Given the description of an element on the screen output the (x, y) to click on. 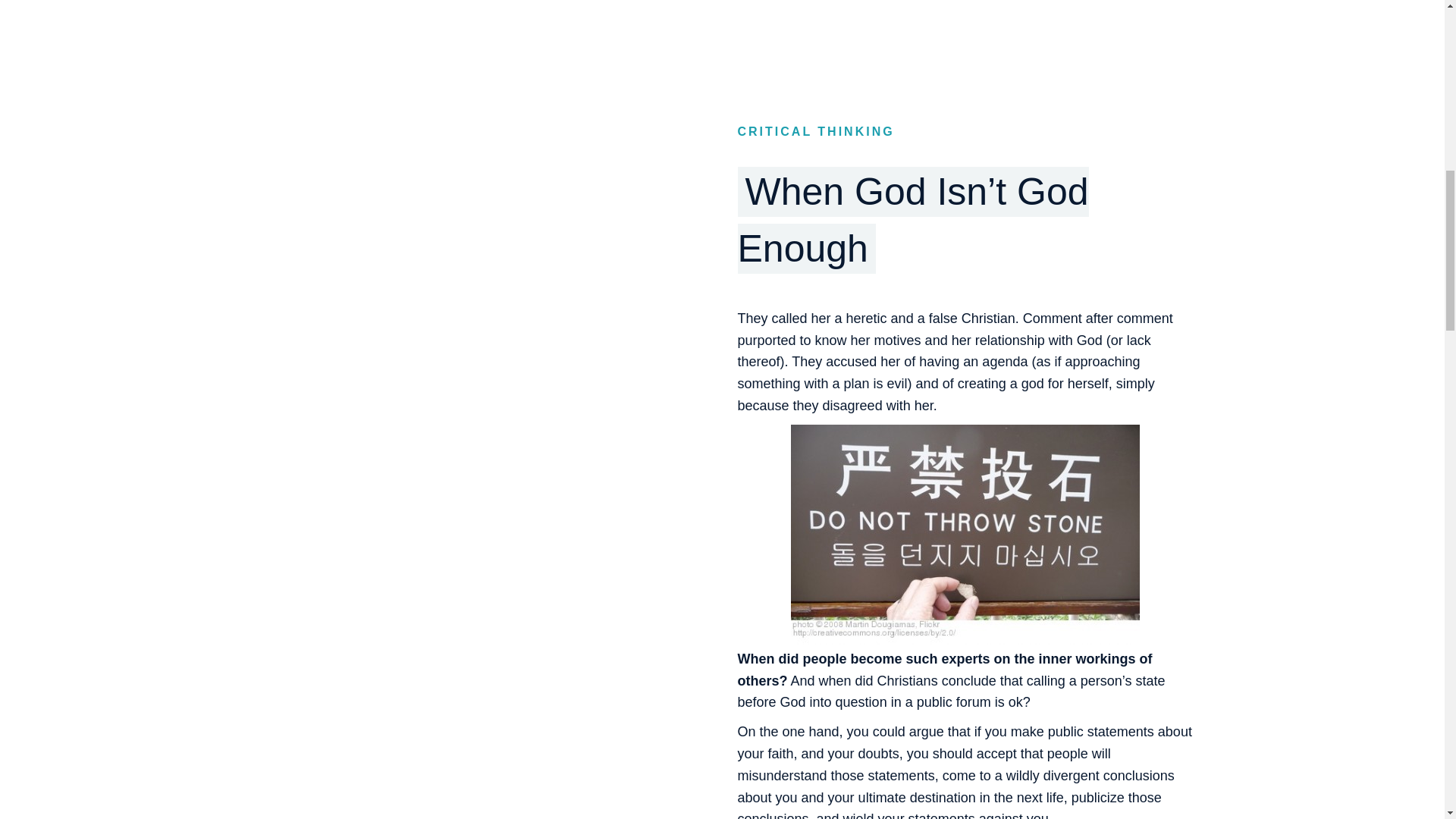
donotthrowstone (964, 534)
CRITICAL THINKING (814, 131)
